Given the description of an element on the screen output the (x, y) to click on. 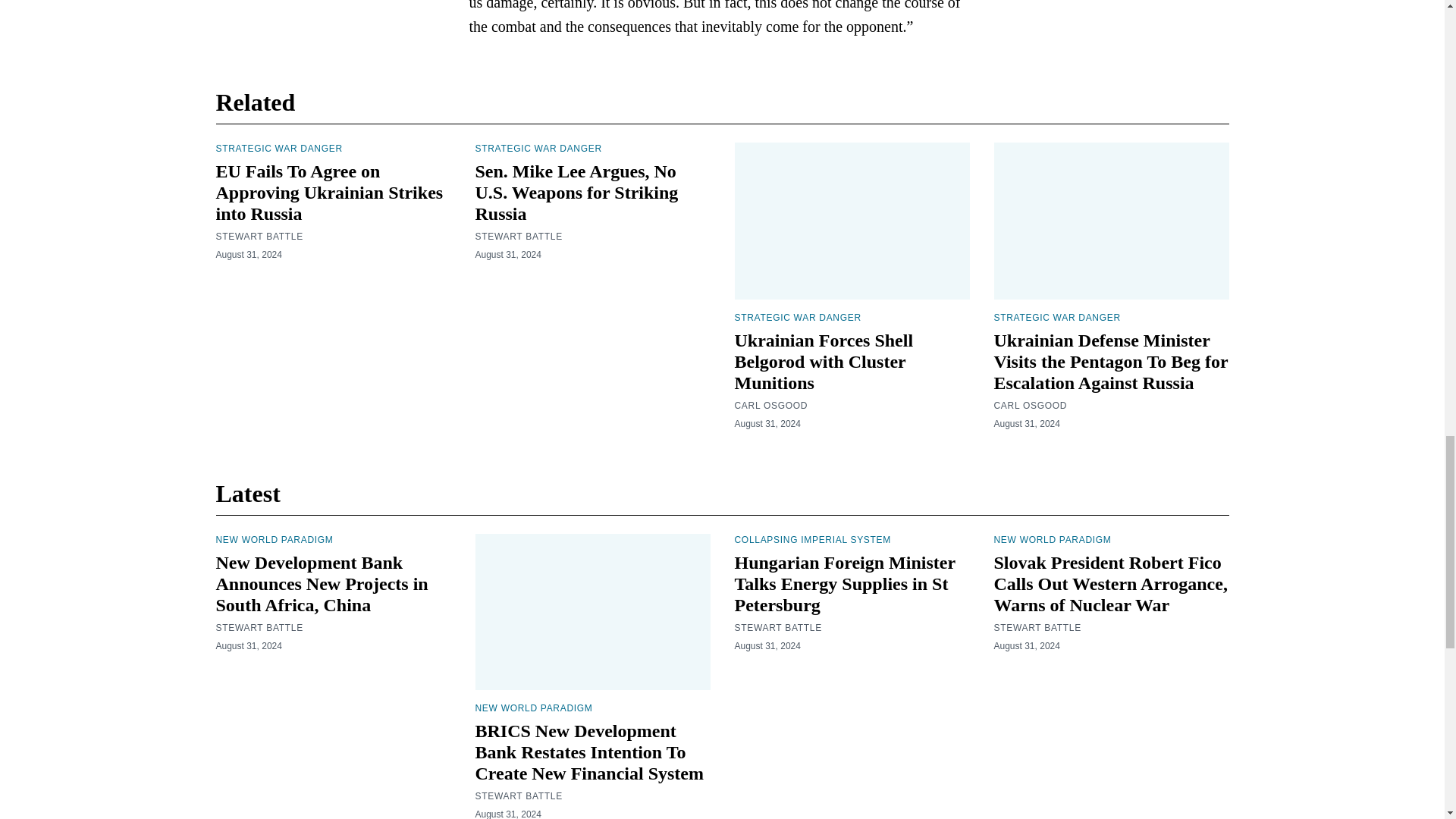
NEW WORLD PARADIGM (533, 707)
NEW WORLD PARADIGM (274, 539)
STEWART BATTLE (258, 236)
STRATEGIC WAR DANGER (796, 317)
STRATEGIC WAR DANGER (278, 148)
EU Fails To Agree on Approving Ukrainian Strikes into Russia (328, 192)
STEWART BATTLE (518, 236)
STRATEGIC WAR DANGER (537, 148)
STRATEGIC WAR DANGER (1055, 317)
